Given the description of an element on the screen output the (x, y) to click on. 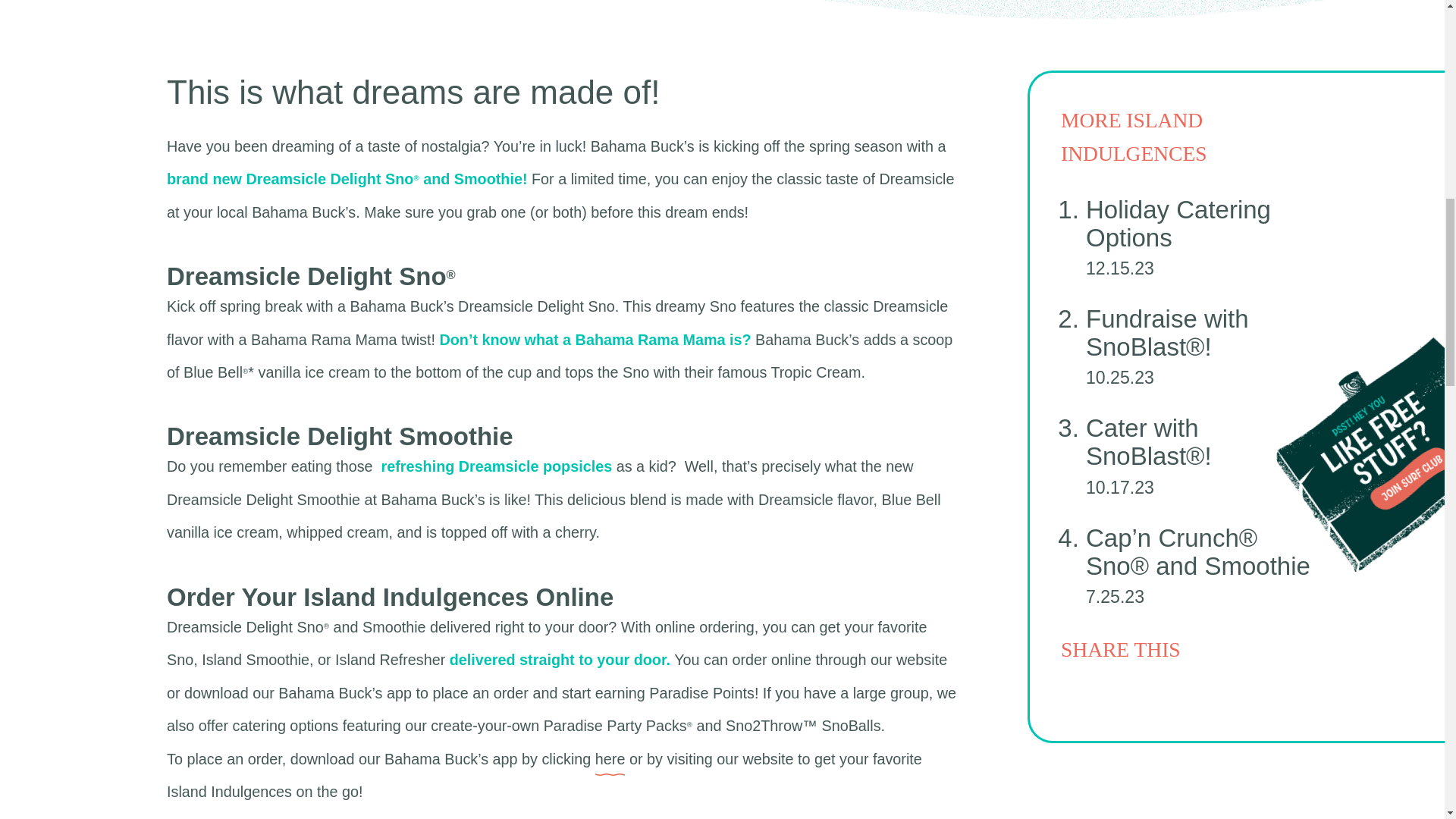
Holiday Catering Options (1178, 223)
here (610, 759)
